Given the description of an element on the screen output the (x, y) to click on. 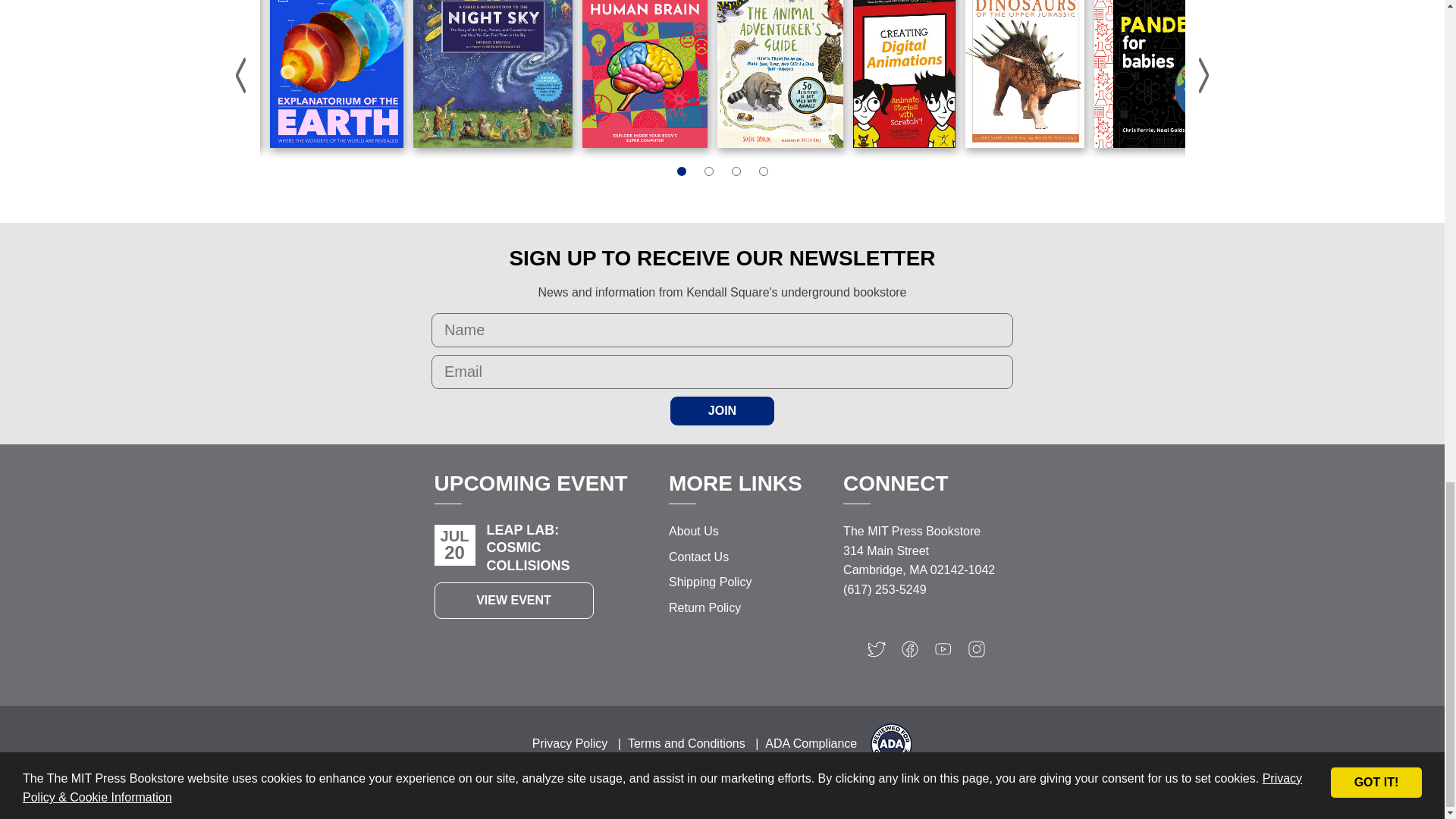
Join (721, 410)
